Given the description of an element on the screen output the (x, y) to click on. 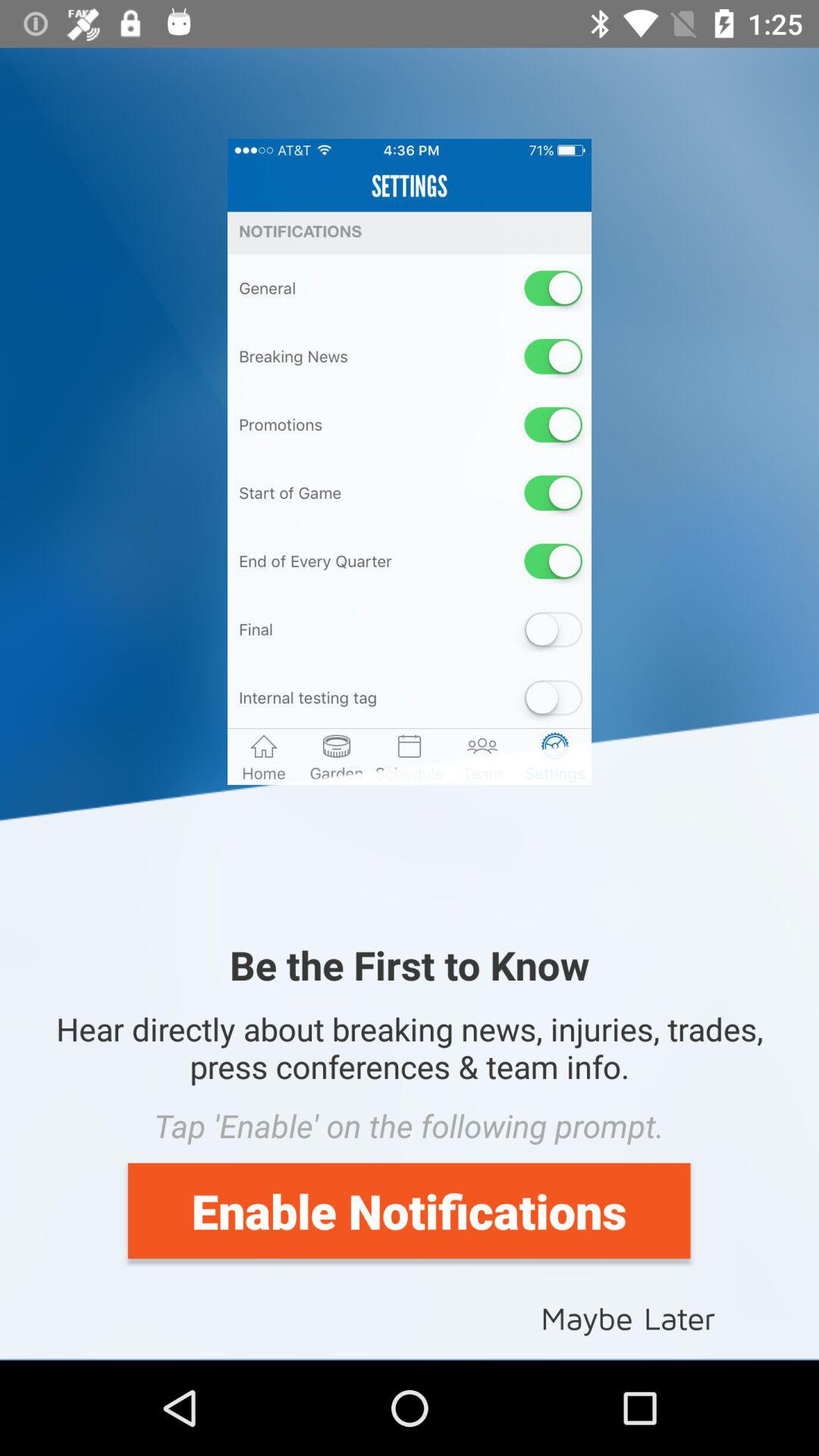
select icon below the tap enable on item (408, 1210)
